Given the description of an element on the screen output the (x, y) to click on. 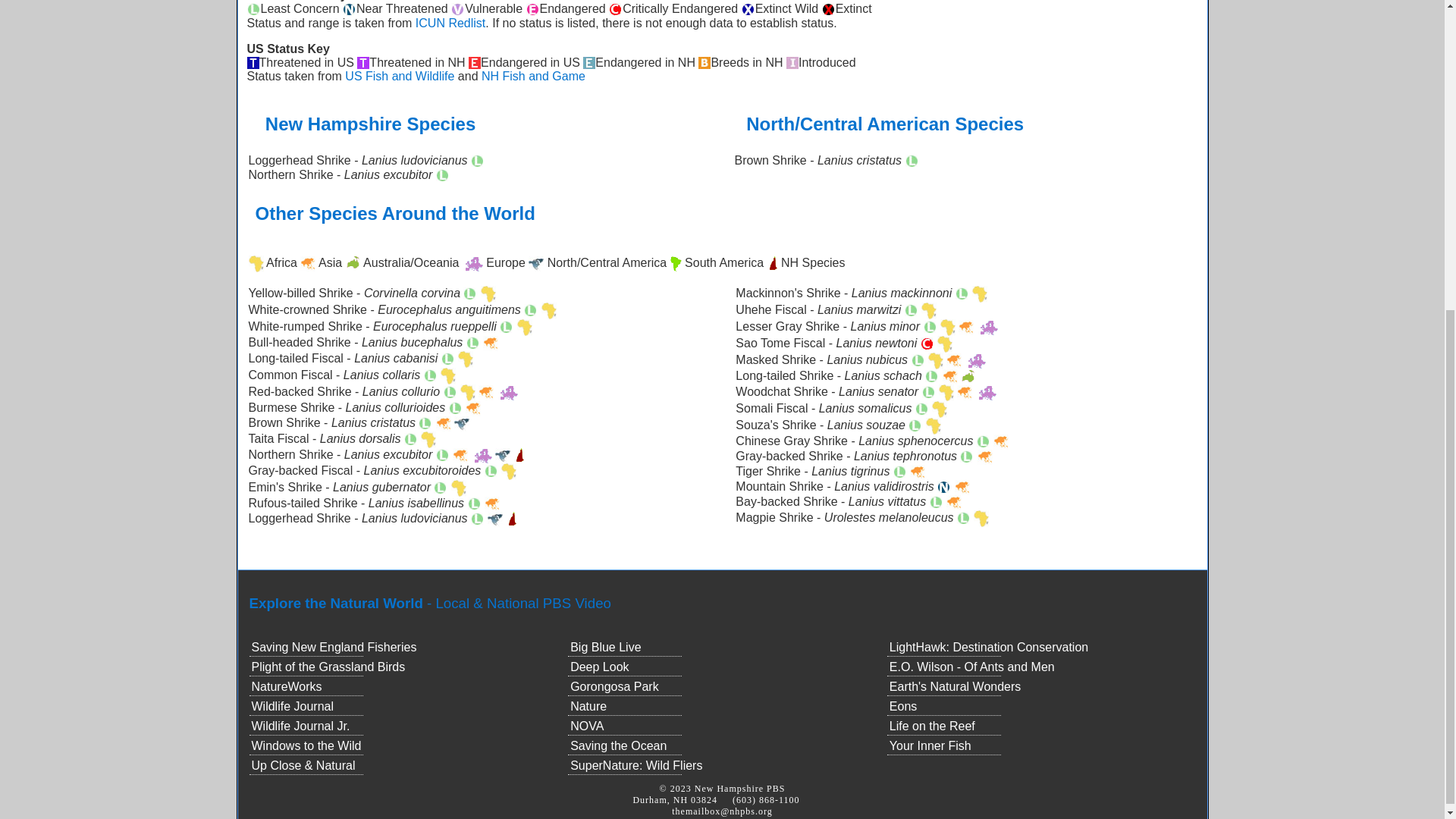
US Fish and Wildlife (399, 75)
Plight of the Grassland Birds (328, 666)
Life on the Reef (932, 725)
SuperNature: Wild Fliers (635, 765)
Eons (903, 706)
NOVA (587, 725)
ICUN Redlist (449, 22)
Deep Look (599, 666)
Gorongosa Park (614, 686)
Wildlife Journal Jr. (300, 725)
Wildlife Journal (292, 706)
NatureWorks (286, 686)
Saving New England Fisheries (333, 646)
Windows to the Wild (306, 745)
Nature (588, 706)
